Given the description of an element on the screen output the (x, y) to click on. 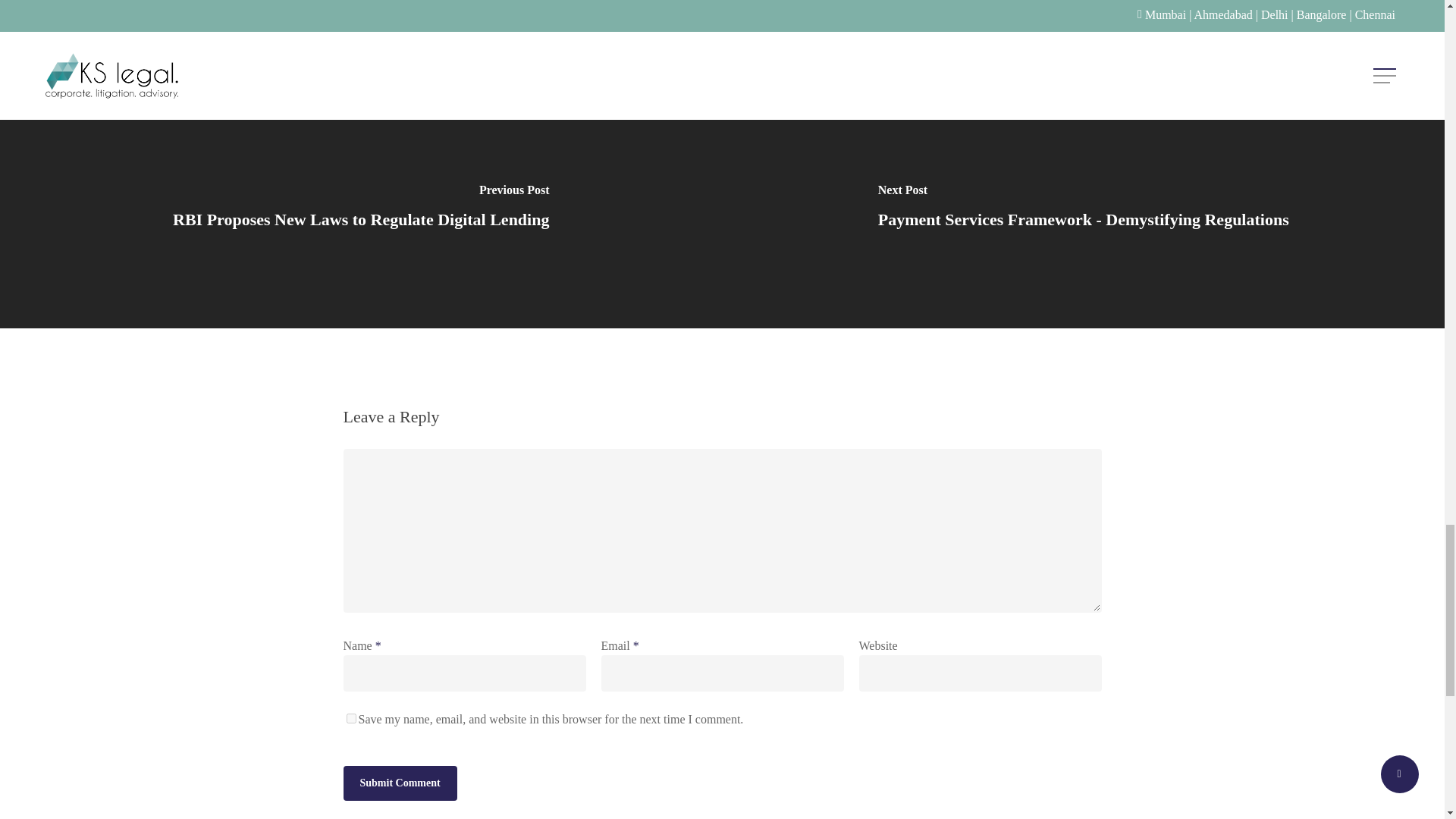
Submit Comment (399, 782)
Submit Comment (399, 782)
yes (350, 718)
